Given the description of an element on the screen output the (x, y) to click on. 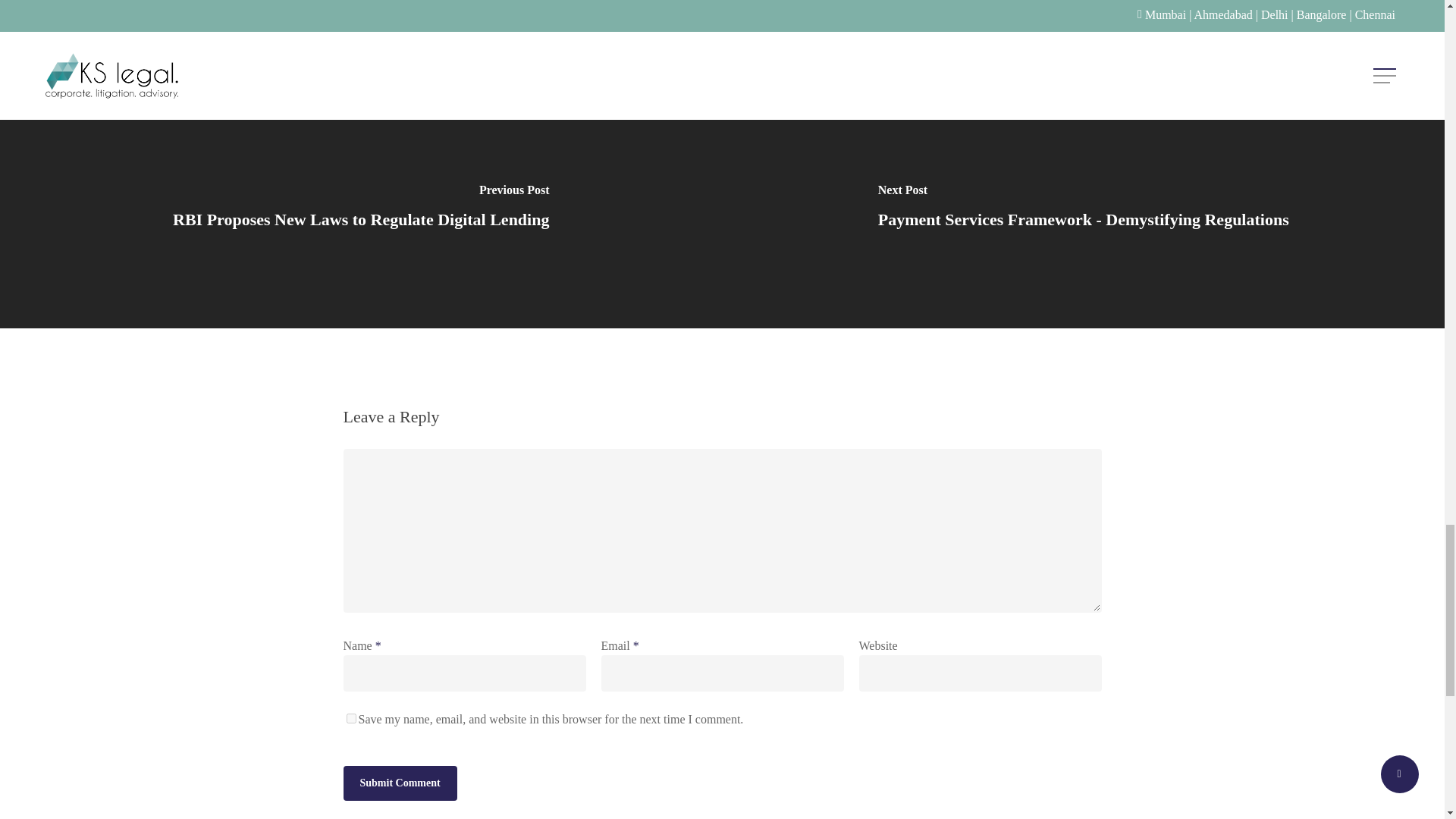
Submit Comment (399, 782)
Submit Comment (399, 782)
yes (350, 718)
